Given the description of an element on the screen output the (x, y) to click on. 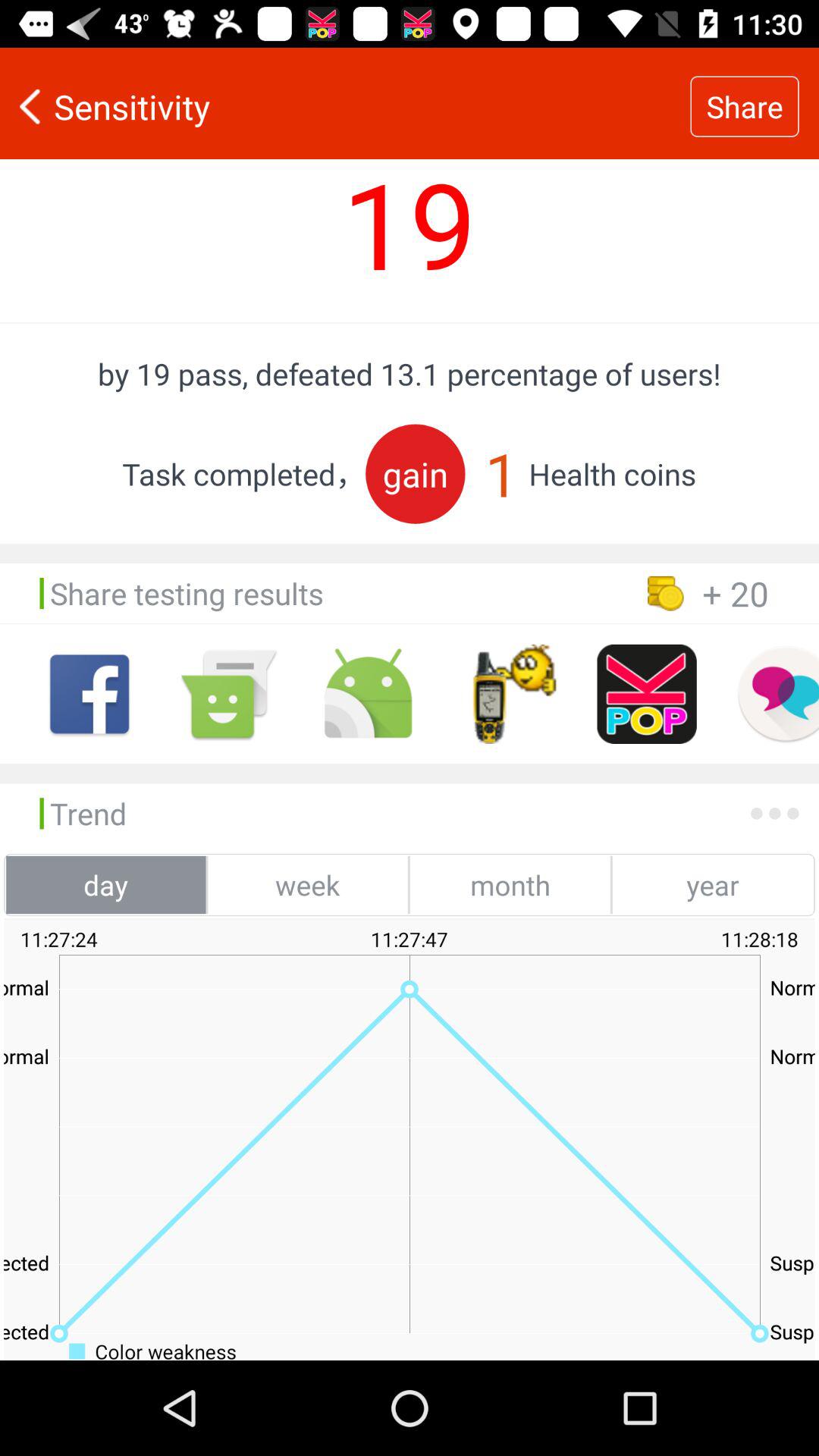
press the item next to 1 (415, 473)
